Given the description of an element on the screen output the (x, y) to click on. 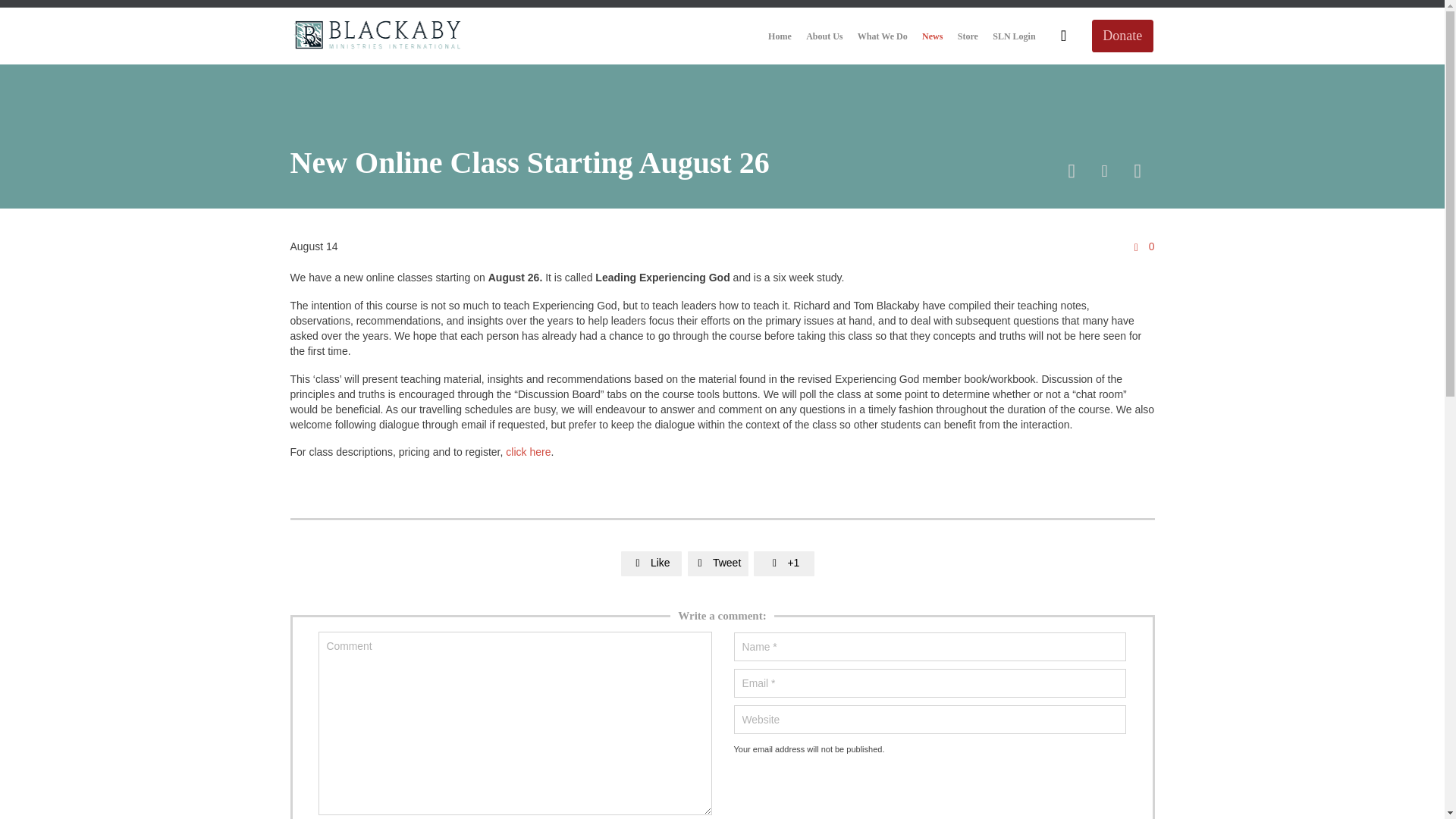
About Us (824, 36)
click here (527, 451)
Home (779, 36)
News (933, 36)
Share on Twitter (717, 562)
Share on Google Plus (783, 562)
Store (968, 36)
SLN Login (1014, 36)
Blackaby Ministries International (379, 35)
